Given the description of an element on the screen output the (x, y) to click on. 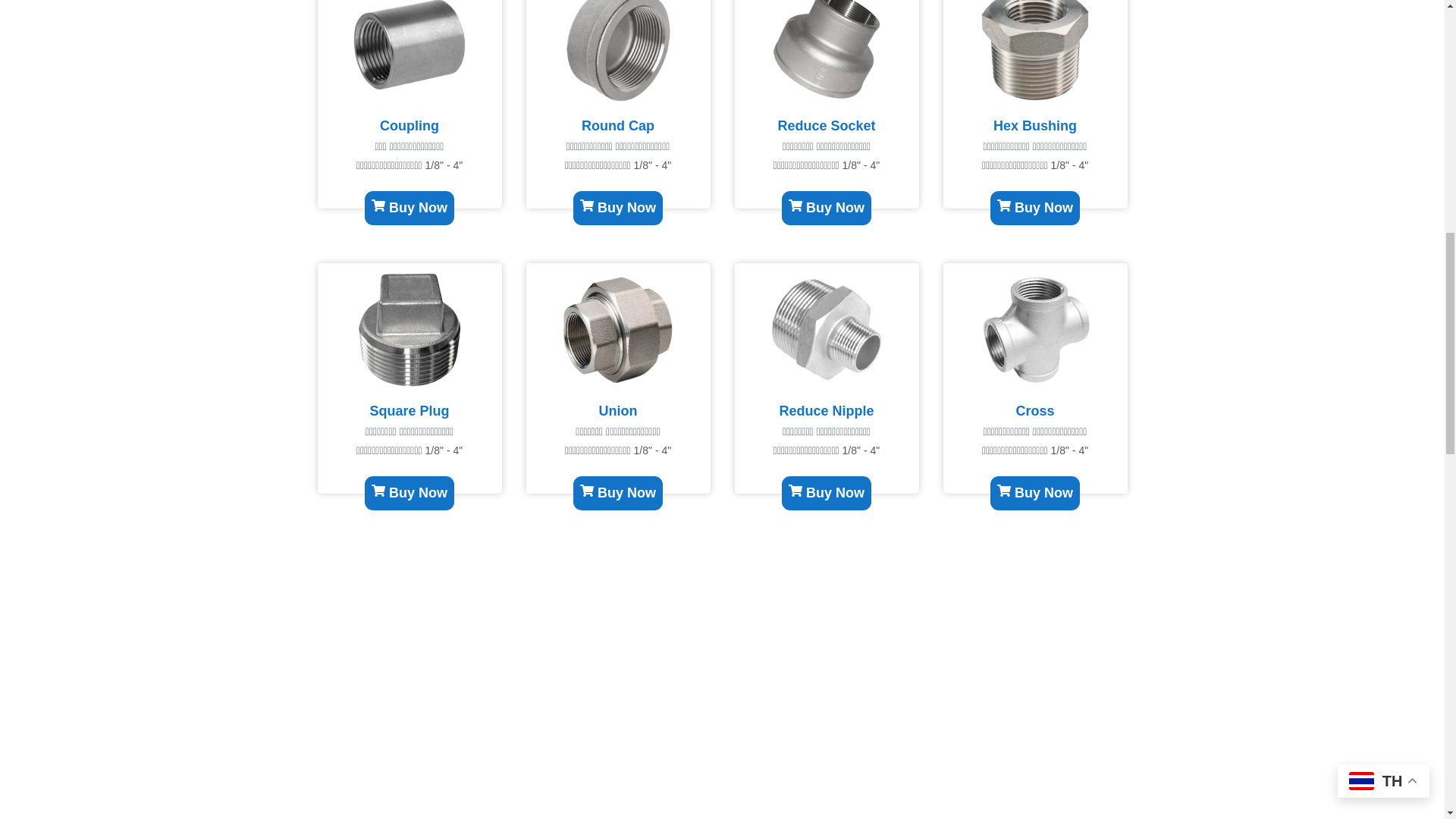
Buy Now (250, 207)
Buy Now (474, 207)
Buy Now (569, 492)
Buy Now (346, 492)
Buy Now (106, 492)
Buy Now (34, 207)
